Given the description of an element on the screen output the (x, y) to click on. 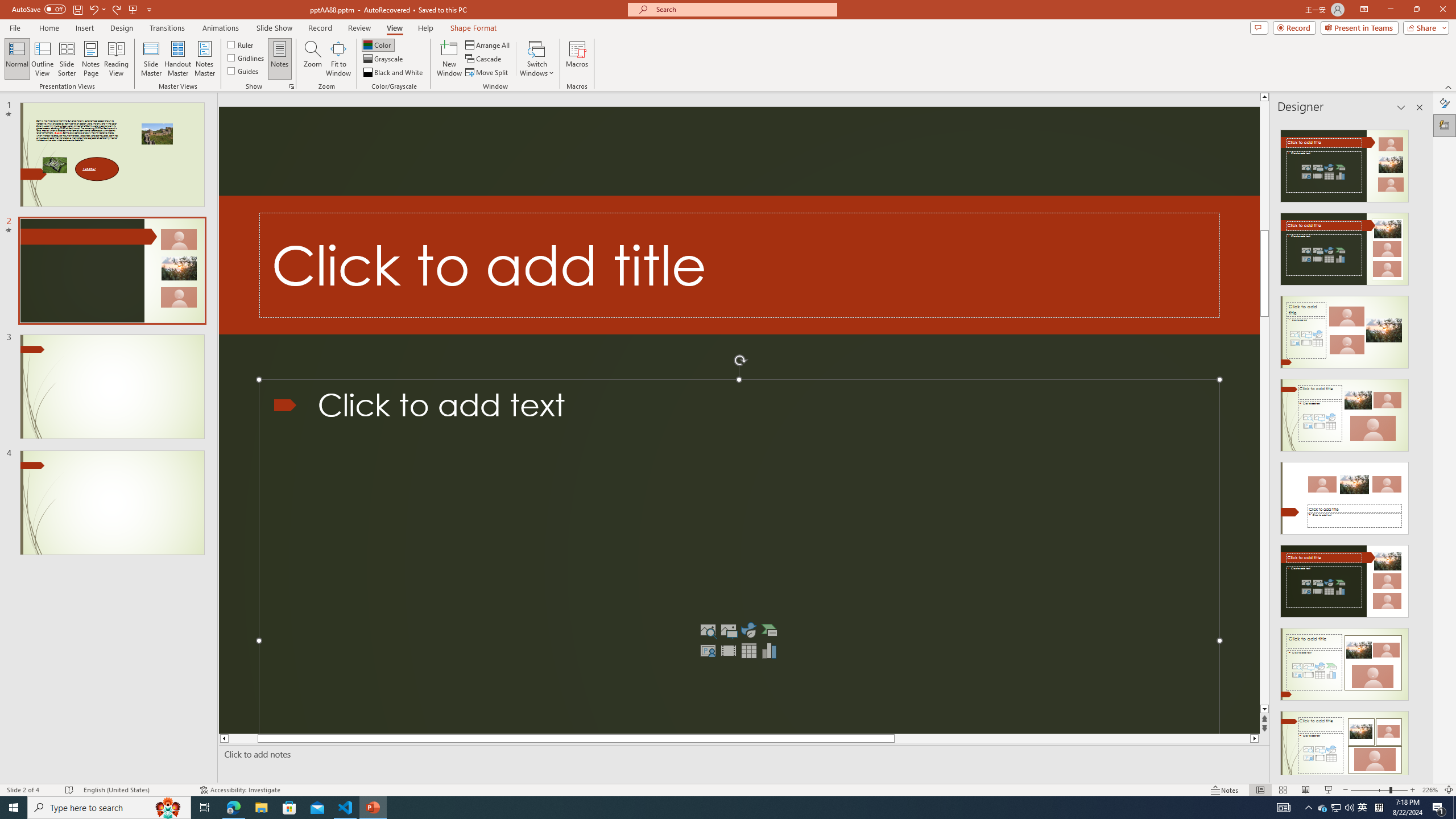
New Window (449, 58)
Title TextBox (739, 264)
Decorative Locked (738, 264)
Class: NetUIScrollBar (1418, 447)
Zoom... (312, 58)
Move Split (487, 72)
Guides (243, 69)
Color (377, 44)
